Given the description of an element on the screen output the (x, y) to click on. 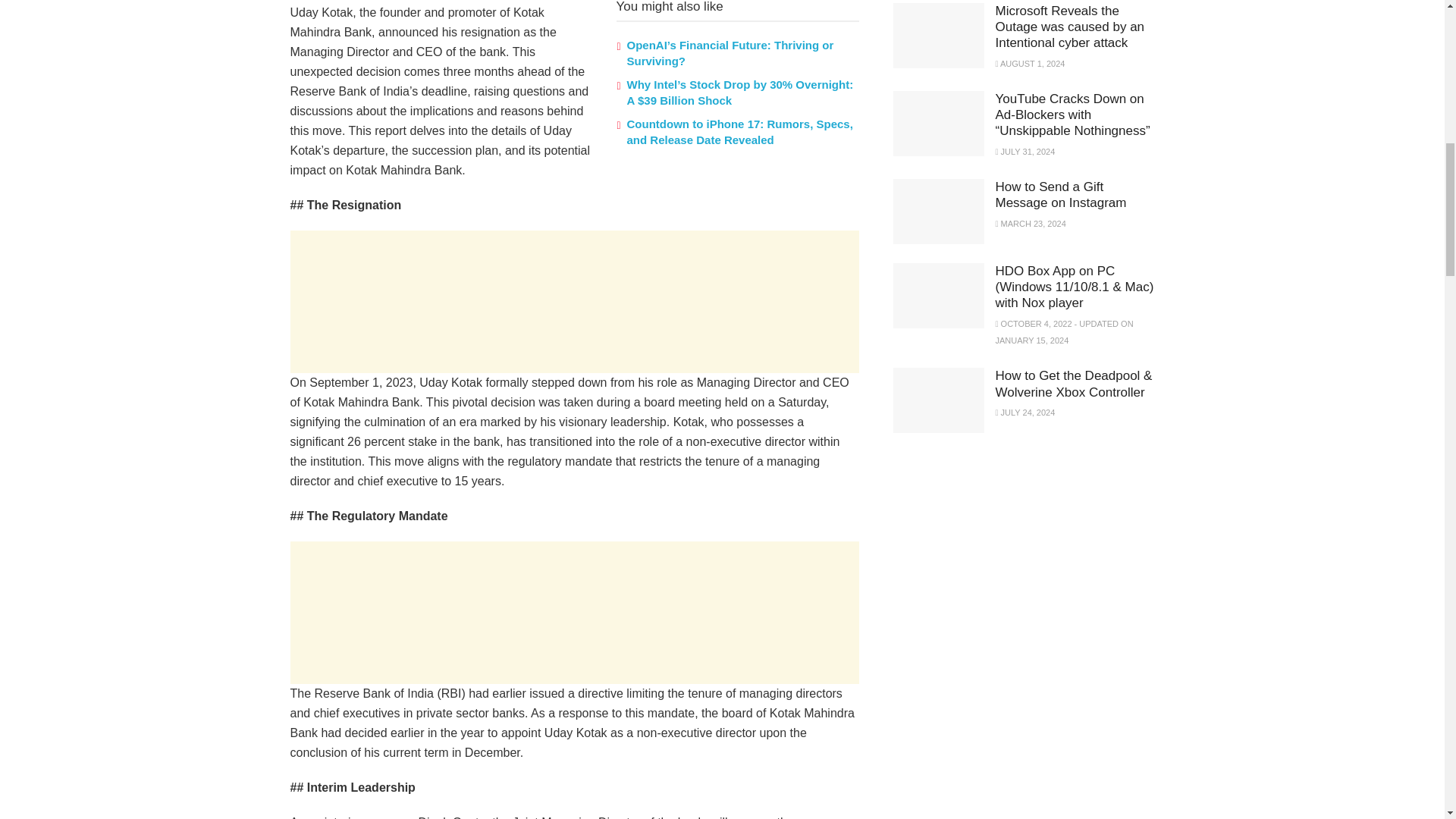
Advertisement (574, 301)
Advertisement (574, 612)
Advertisement (1007, 557)
